Given the description of an element on the screen output the (x, y) to click on. 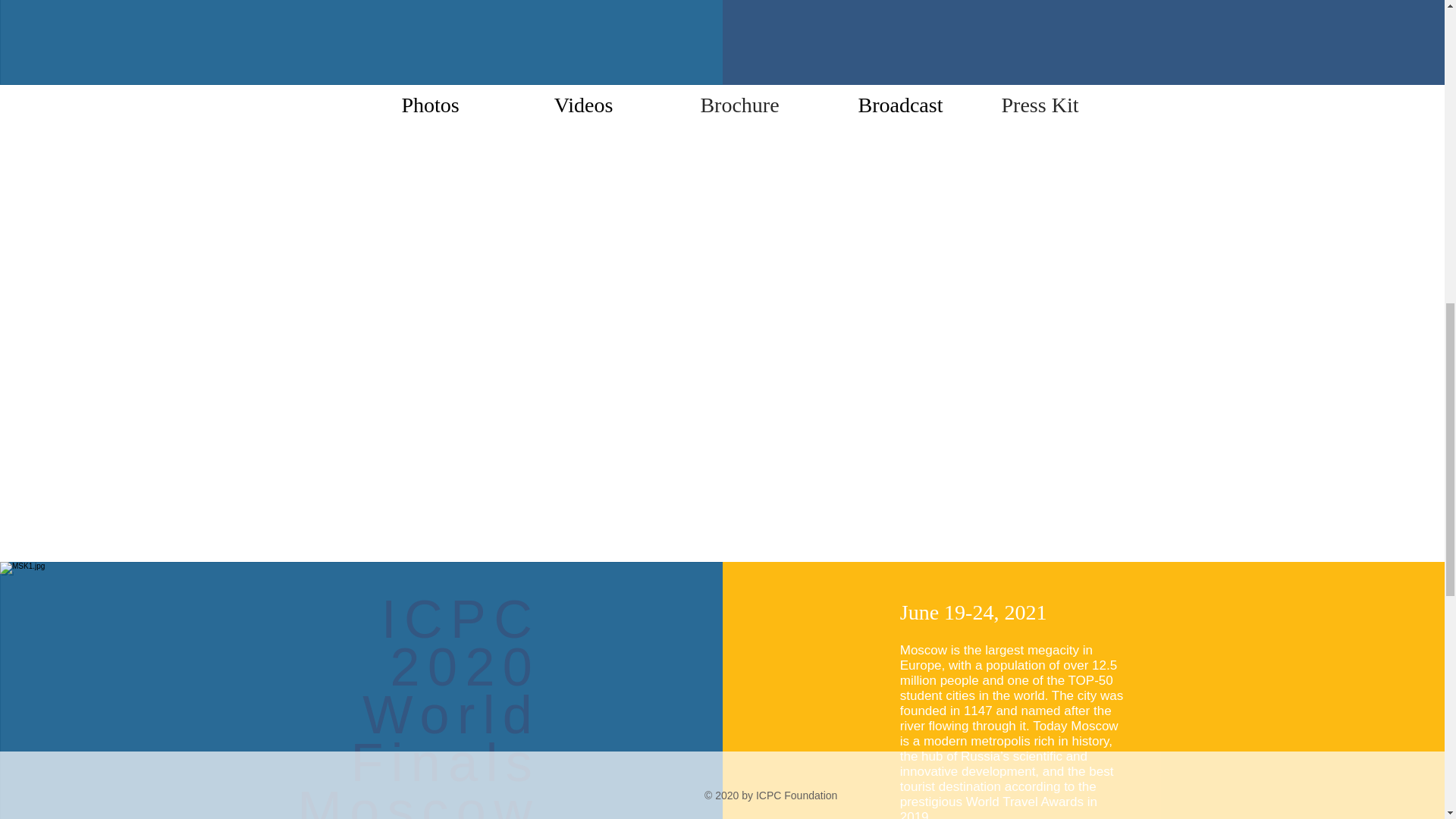
Brochure (739, 105)
Broadcast (900, 105)
Videos (583, 105)
Photos (429, 105)
Press Kit (1039, 105)
